Given the description of an element on the screen output the (x, y) to click on. 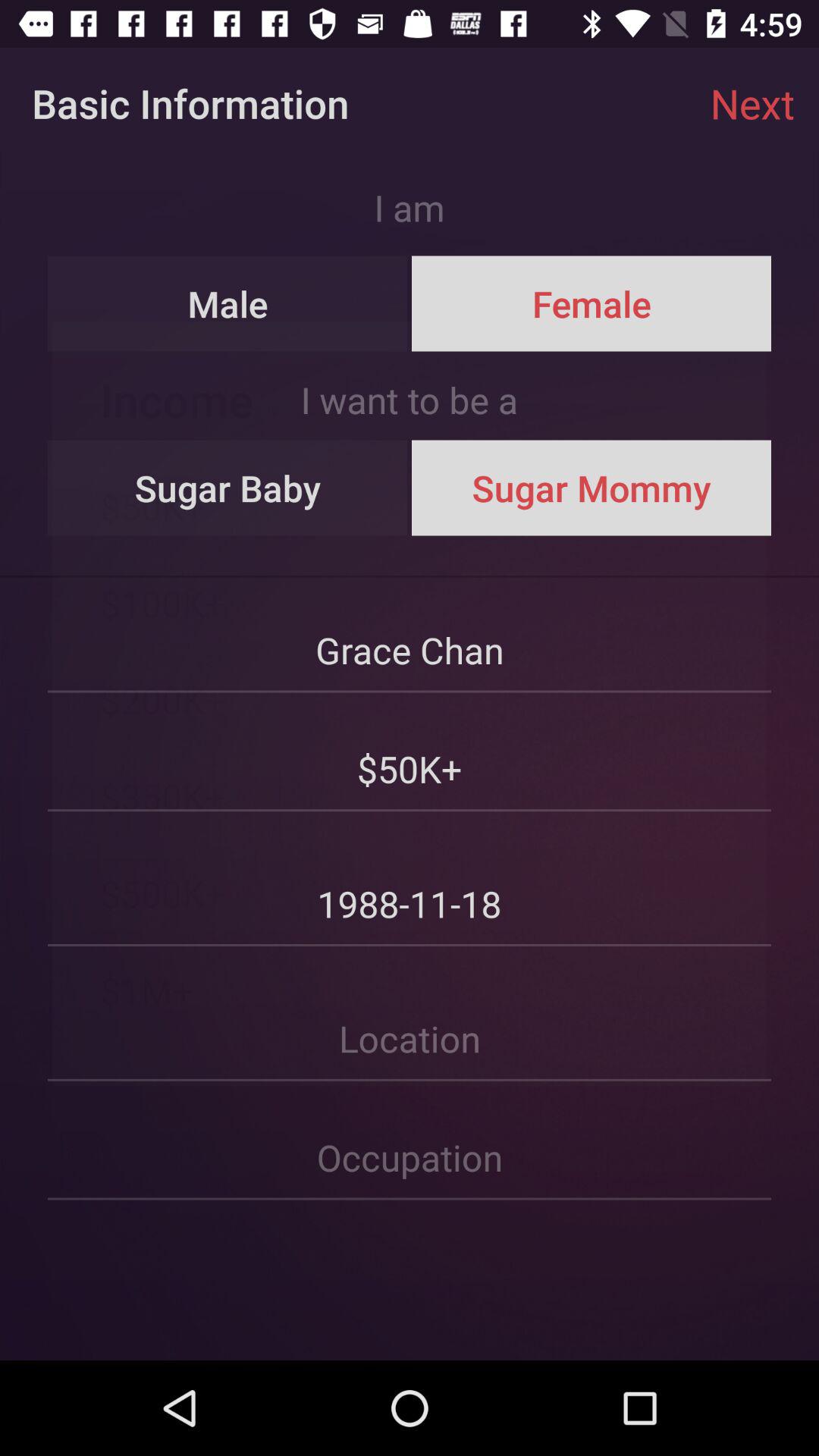
click the icon above the i want to item (227, 303)
